Given the description of an element on the screen output the (x, y) to click on. 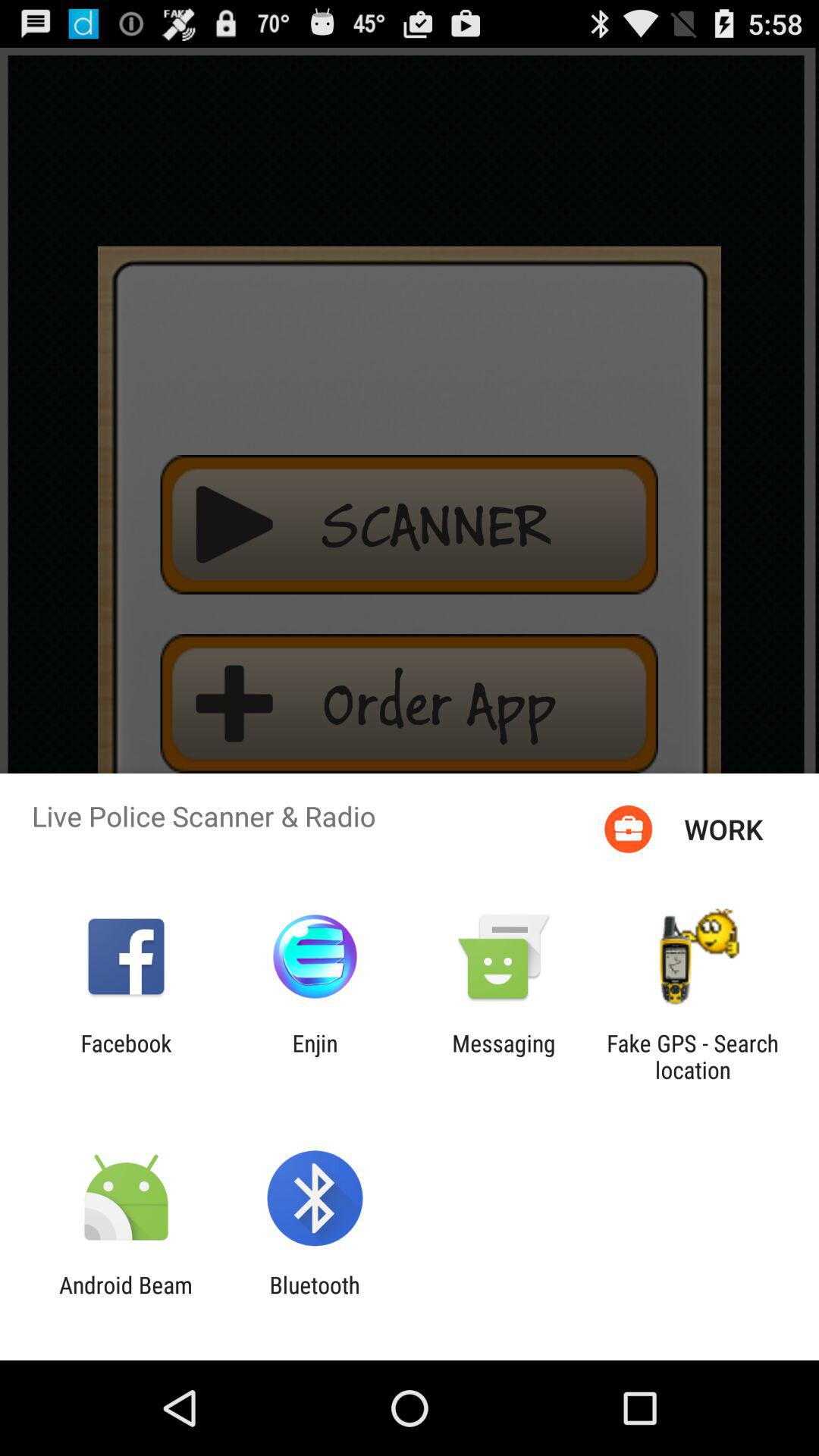
open the app next to messaging item (314, 1056)
